Given the description of an element on the screen output the (x, y) to click on. 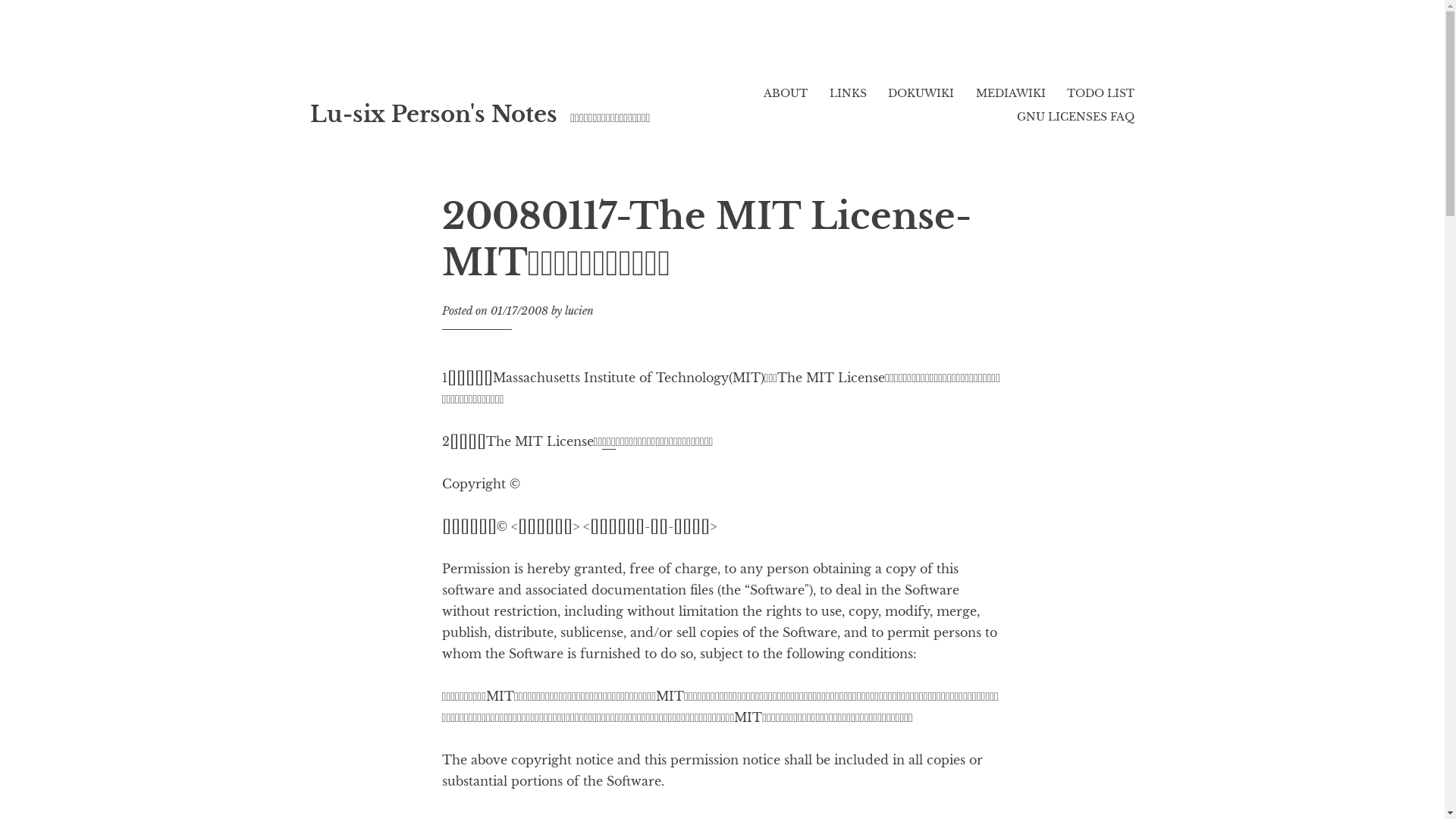
MEDIAWIKI Element type: text (1010, 93)
Lu-six Person's Notes Element type: text (432, 114)
lucien Element type: text (578, 310)
ABOUT Element type: text (785, 93)
LINKS Element type: text (847, 93)
TODO LIST Element type: text (1100, 93)
01/17/2008 Element type: text (519, 310)
DOKUWIKI Element type: text (920, 93)
Skip to content Element type: text (309, 60)
GNU LICENSES FAQ Element type: text (1075, 116)
